Given the description of an element on the screen output the (x, y) to click on. 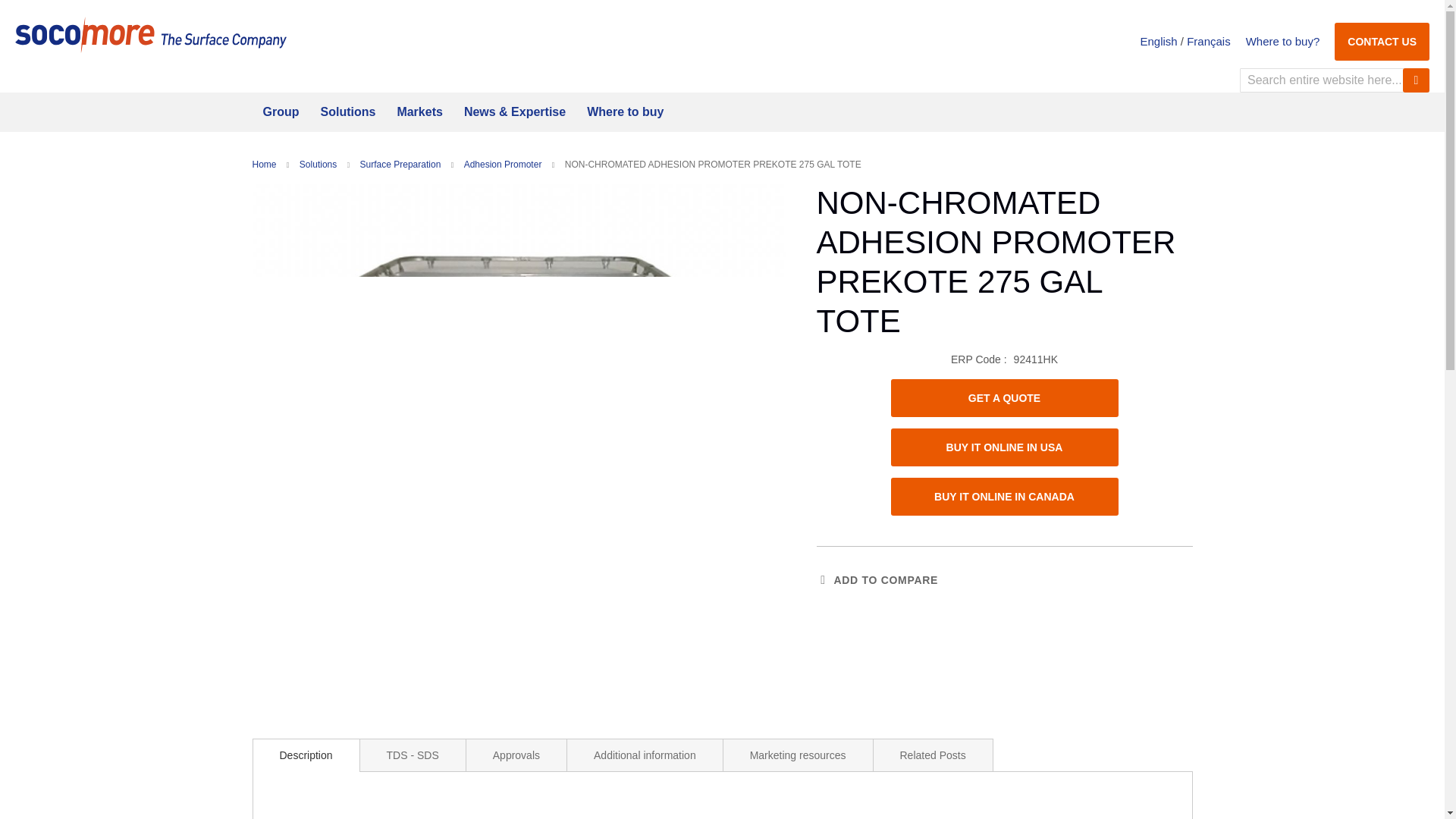
Socomore (150, 34)
Where to buy? (1283, 41)
Search (1416, 79)
Search (1416, 79)
CONTACT US (1382, 41)
English (1159, 41)
CONTACT US (1382, 40)
